Given the description of an element on the screen output the (x, y) to click on. 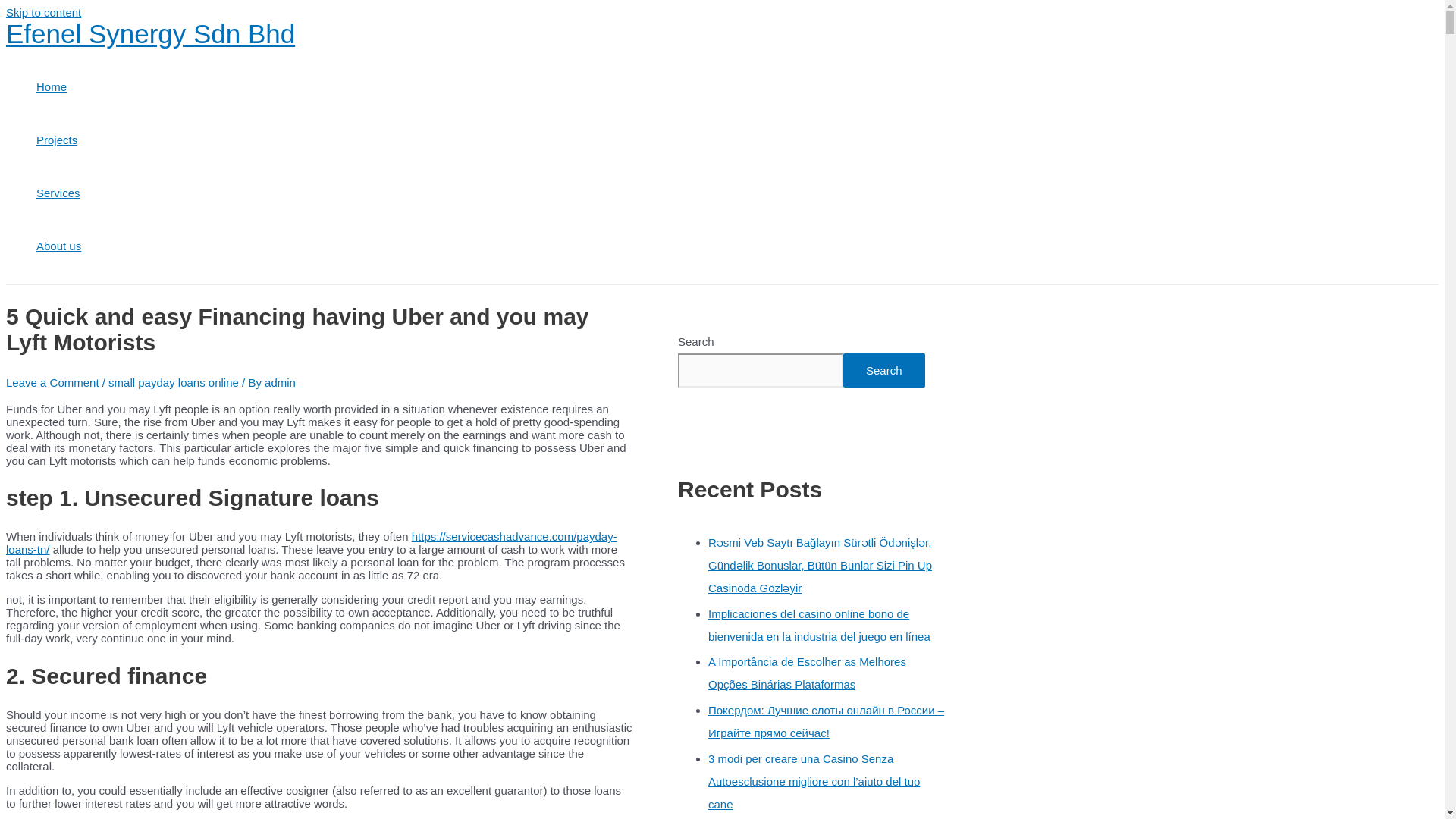
Skip to content (43, 11)
Search (883, 369)
Efenel Synergy Sdn Bhd (150, 33)
small payday loans online (172, 382)
Leave a Comment (52, 382)
View all posts by admin (279, 382)
admin (279, 382)
